Given the description of an element on the screen output the (x, y) to click on. 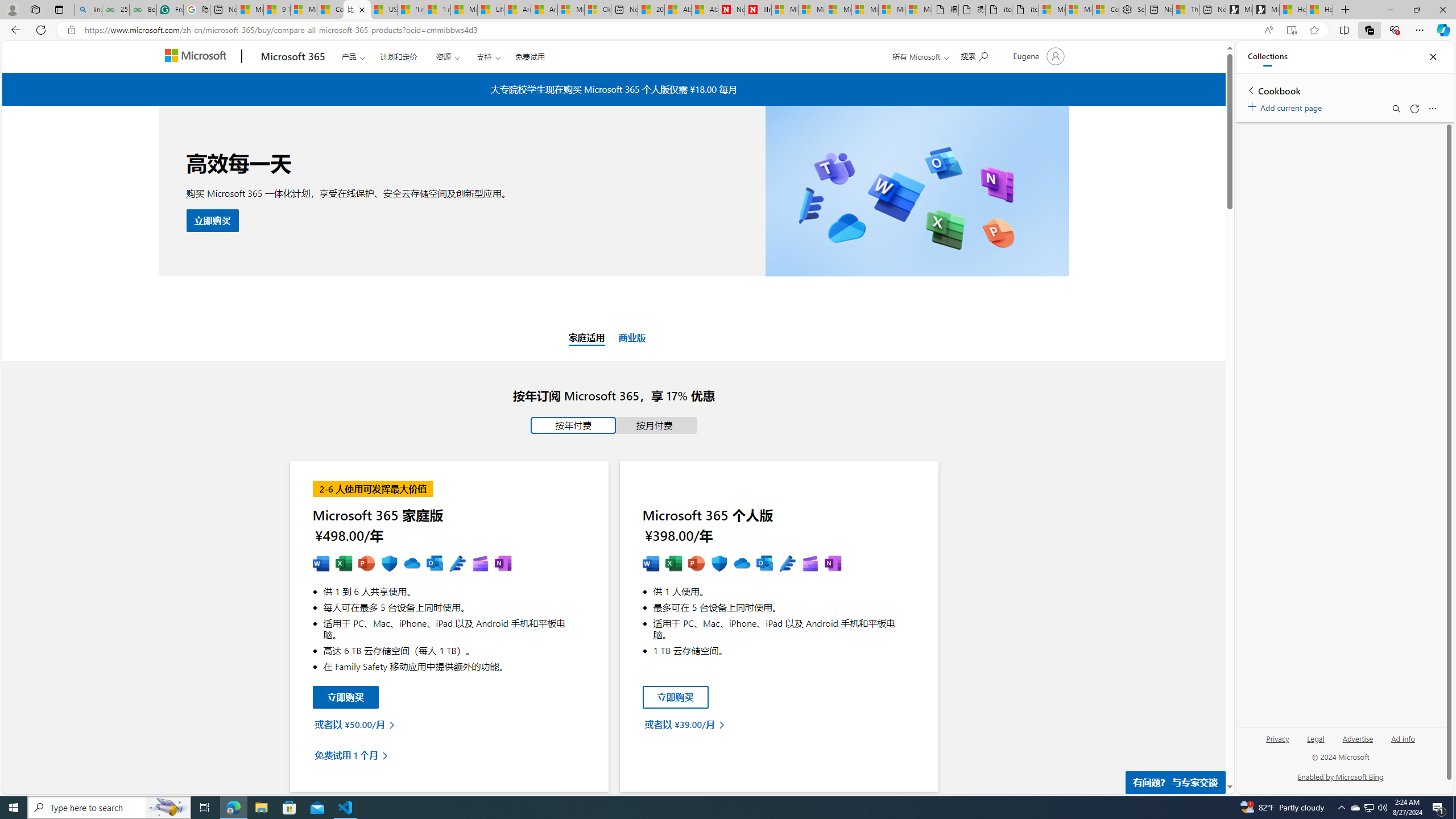
itconcepthk.com/projector_solutions.mp4 (1025, 9)
